Given the description of an element on the screen output the (x, y) to click on. 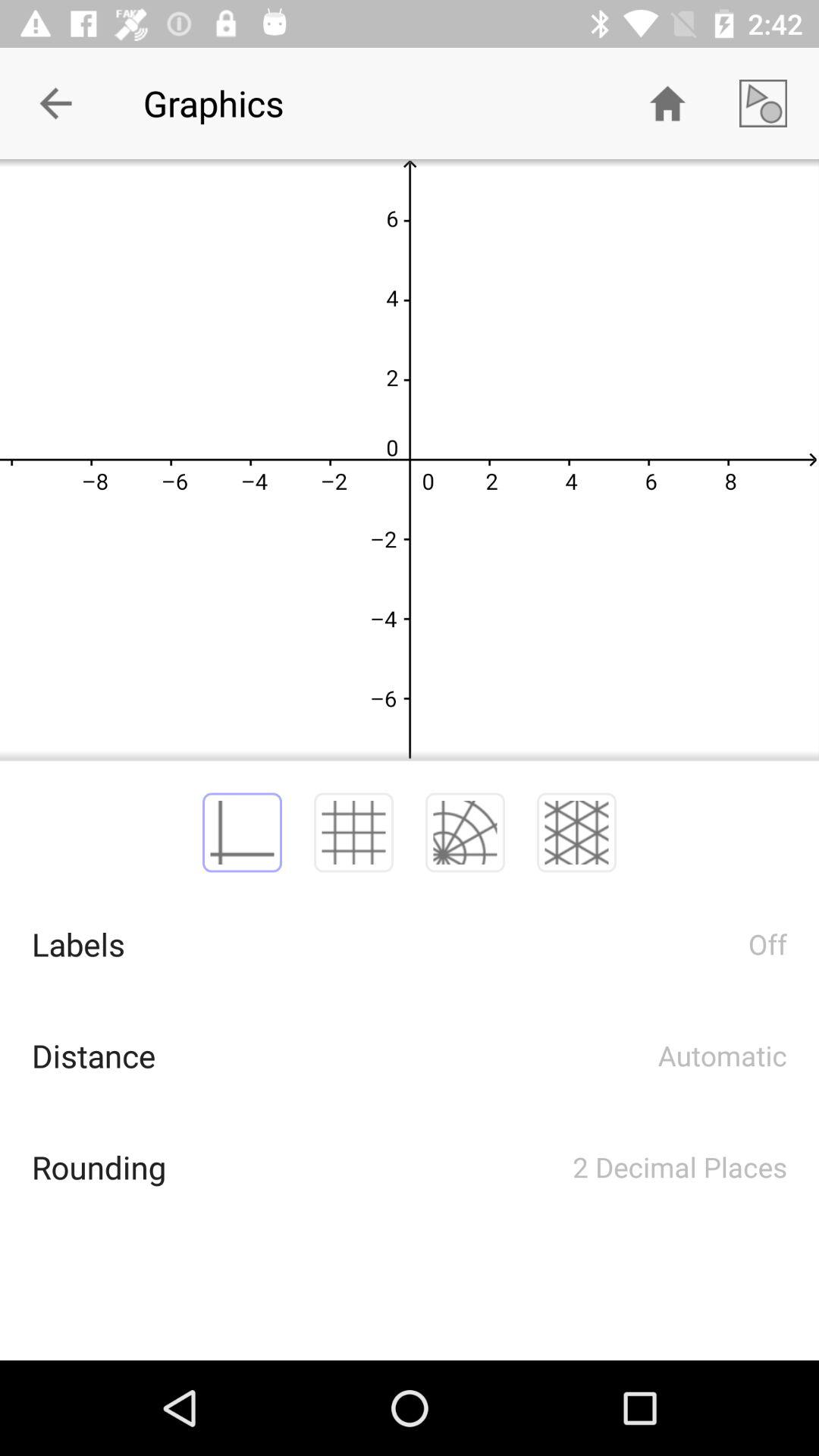
click icon at the top left corner (55, 103)
